Given the description of an element on the screen output the (x, y) to click on. 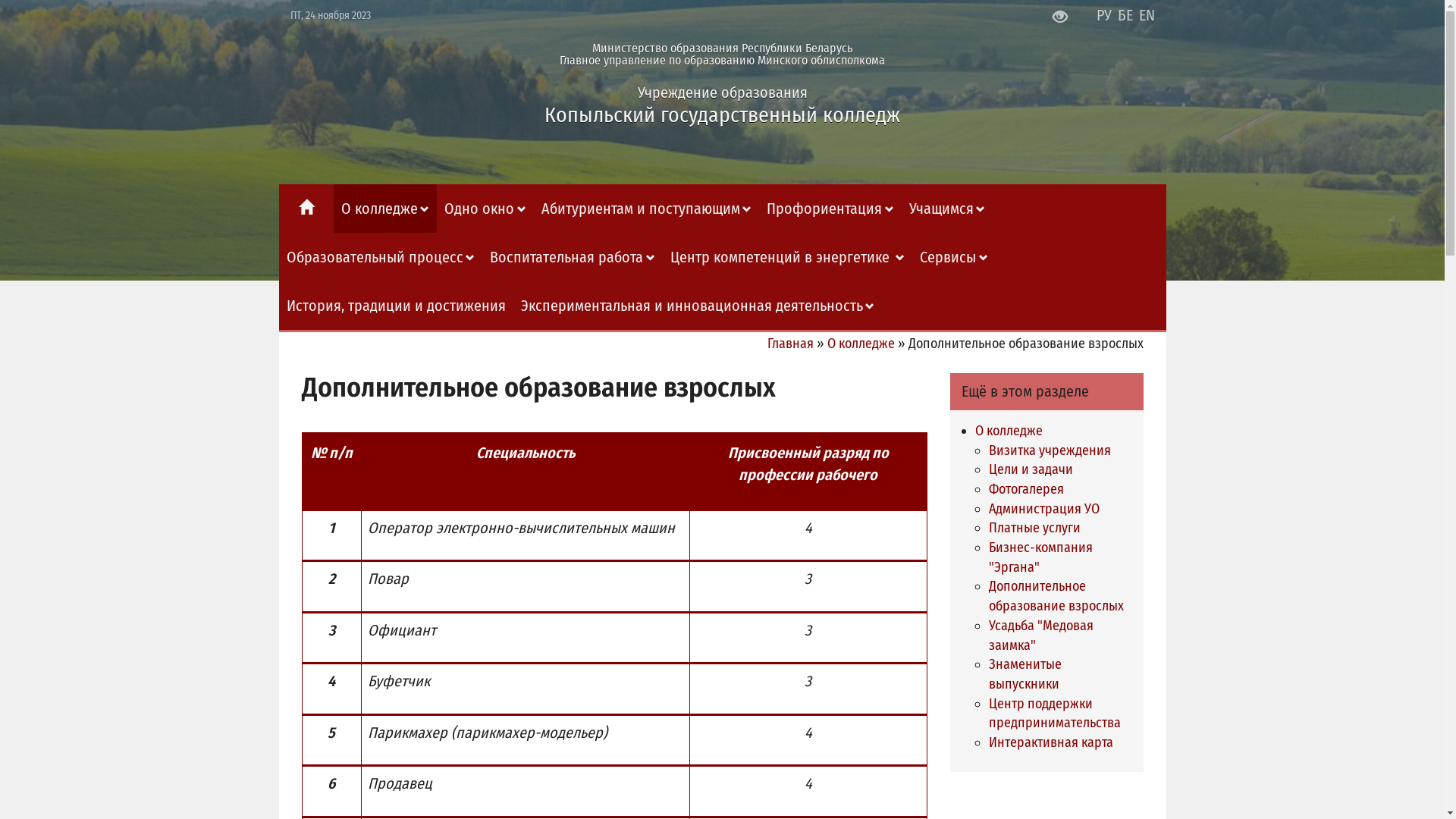
EN Element type: text (1146, 15)
